Given the description of an element on the screen output the (x, y) to click on. 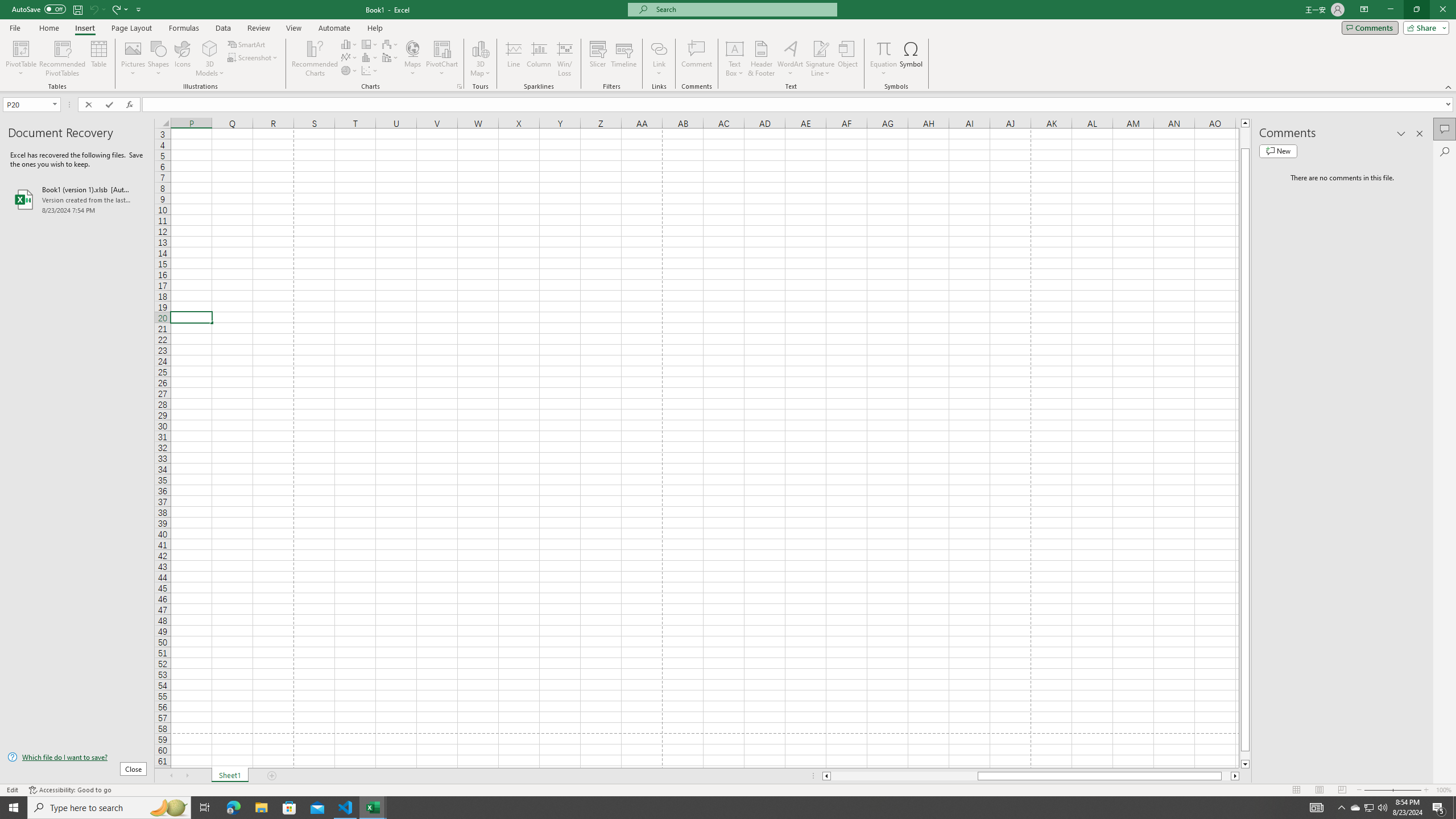
Screenshot (253, 56)
Pictures (133, 58)
